Given the description of an element on the screen output the (x, y) to click on. 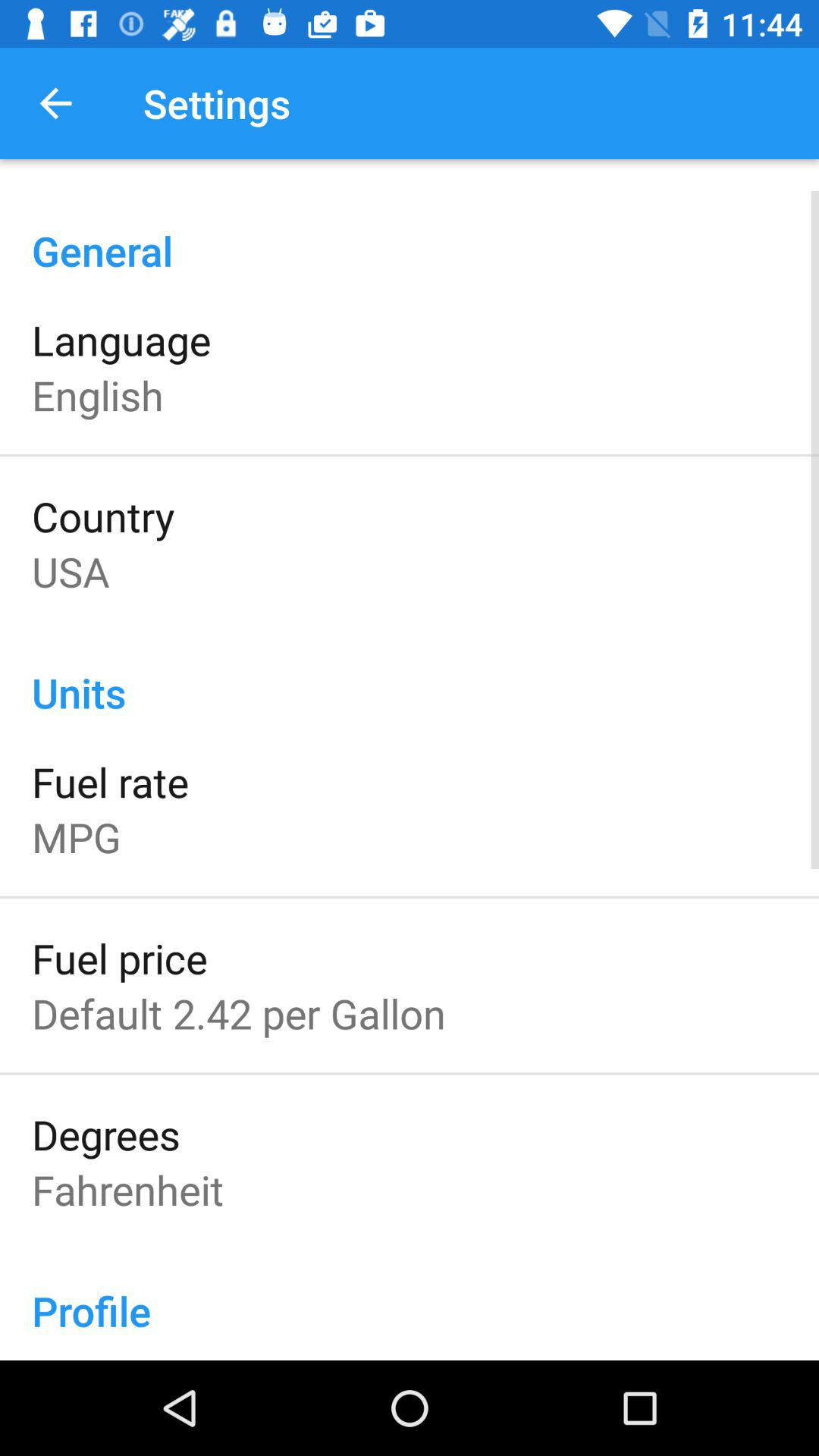
choose icon above the usa icon (102, 515)
